Given the description of an element on the screen output the (x, y) to click on. 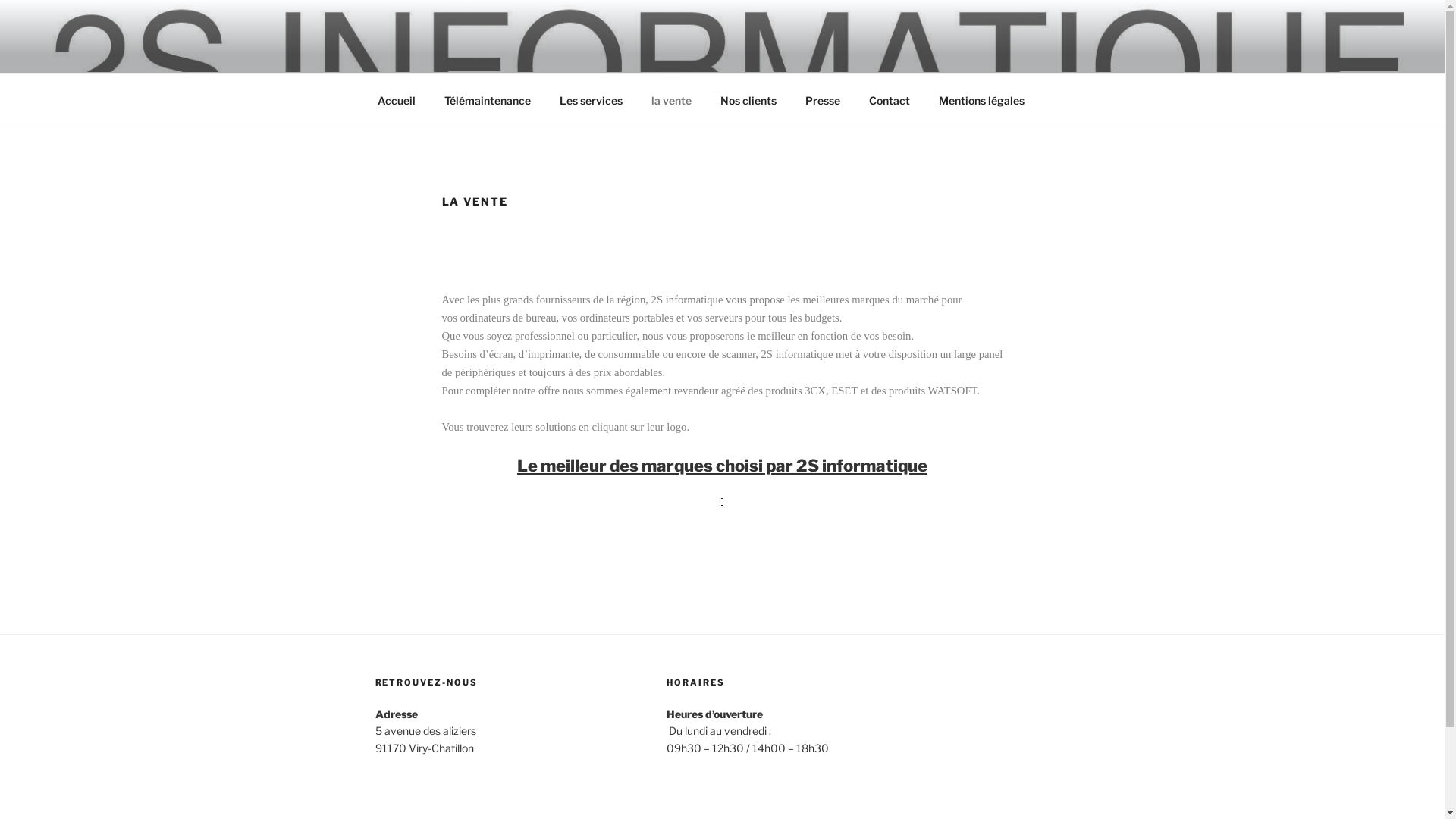
la vente Element type: text (671, 100)
Les services Element type: text (590, 100)
Presse Element type: text (822, 100)
Nos clients Element type: text (747, 100)
  Element type: text (722, 498)
Contact Element type: text (888, 100)
Accueil Element type: text (396, 100)
